Given the description of an element on the screen output the (x, y) to click on. 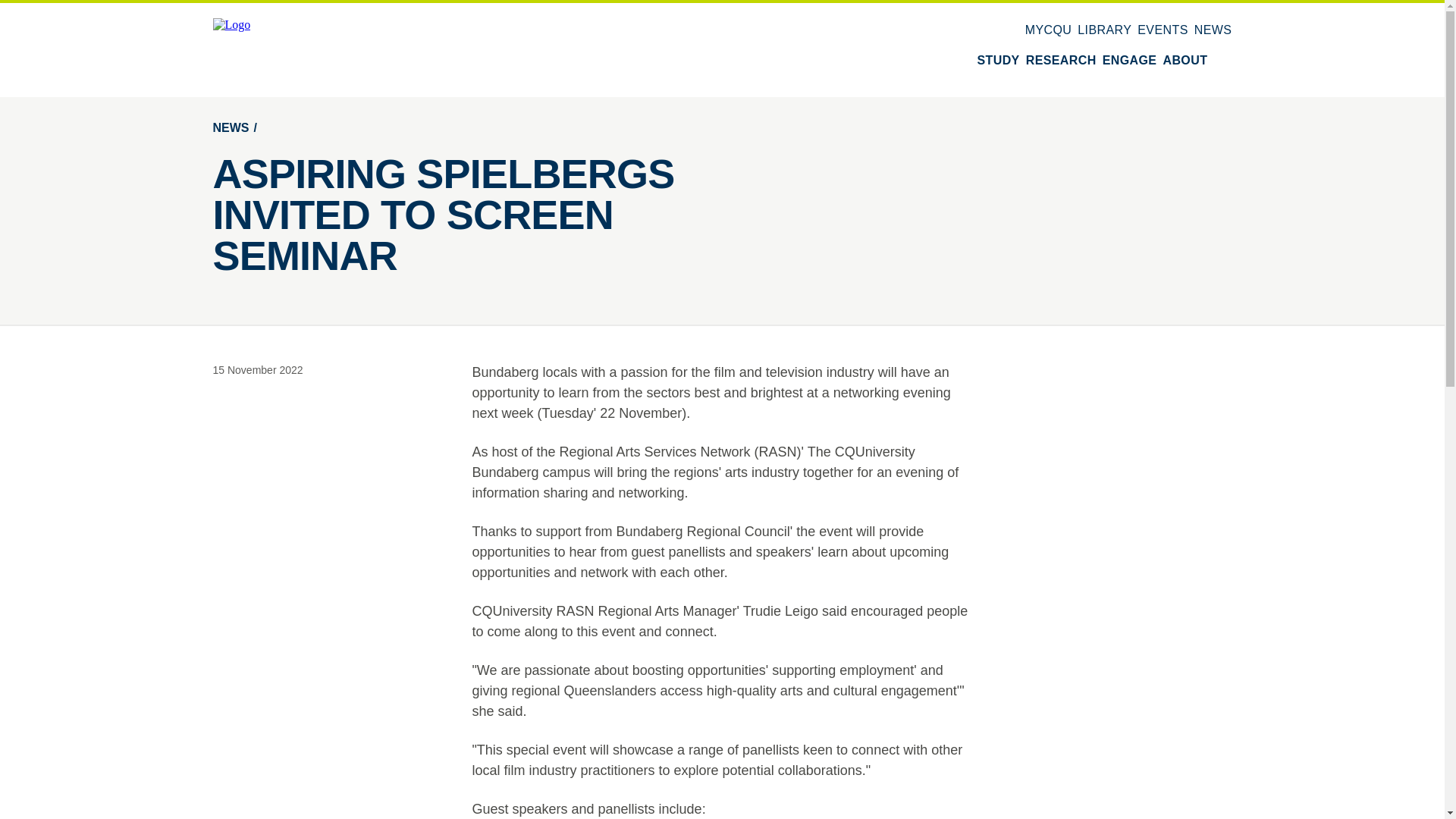
STUDY (997, 60)
RESEARCH (1061, 60)
MYCQU (1048, 29)
EVENTS (1162, 29)
LIBRARY (1104, 29)
NEWS (1212, 29)
